Given the description of an element on the screen output the (x, y) to click on. 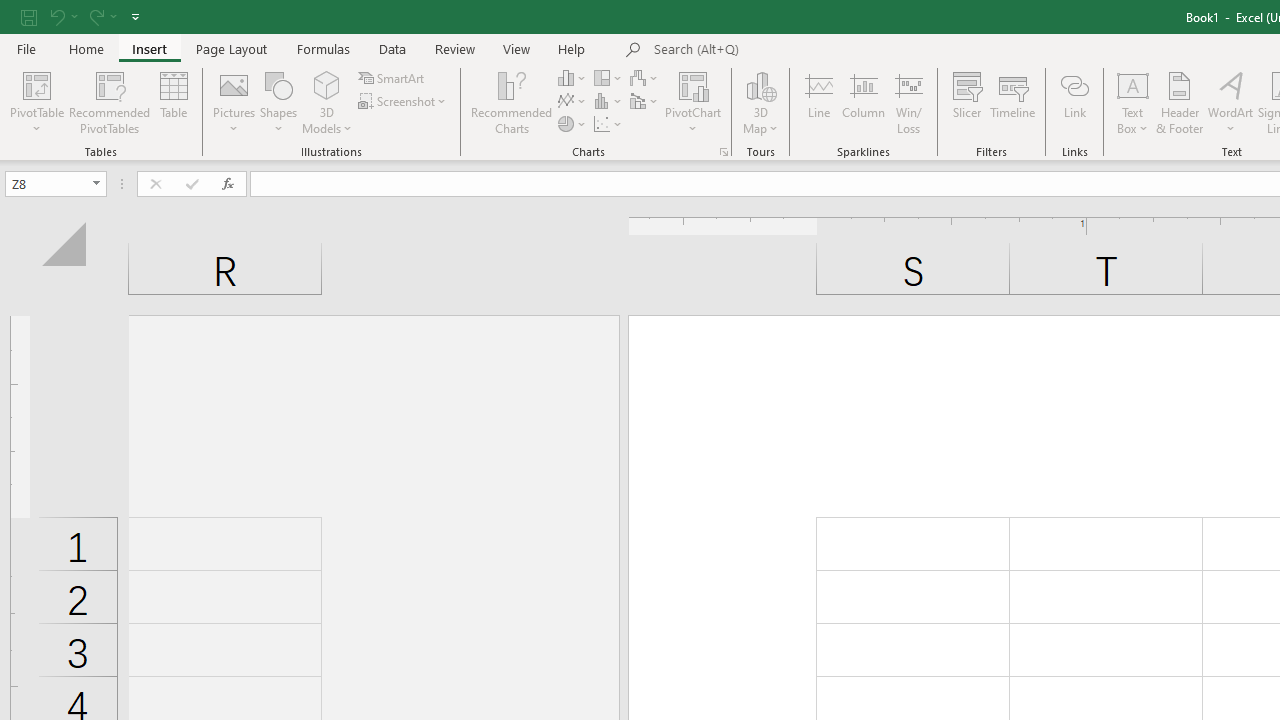
Insert Hierarchy Chart (609, 78)
3D Models (326, 84)
SmartArt... (392, 78)
Table (173, 102)
Pictures (234, 102)
Insert Line or Area Chart (573, 101)
3D Map (760, 84)
Insert Combo Chart (645, 101)
Insert Scatter (X, Y) or Bubble Chart (609, 124)
Timeline (1013, 102)
